Given the description of an element on the screen output the (x, y) to click on. 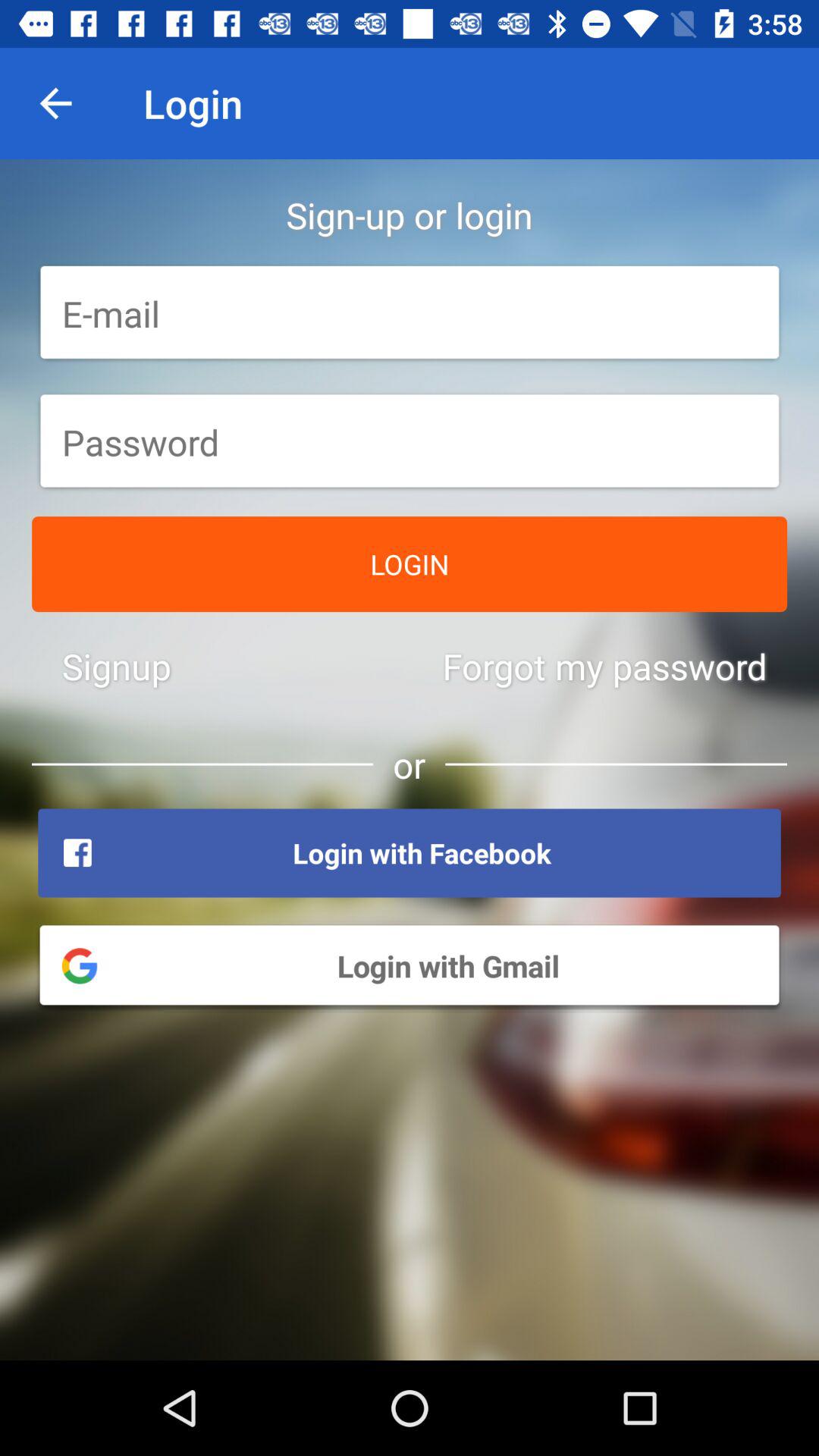
tap the signup (116, 665)
